Given the description of an element on the screen output the (x, y) to click on. 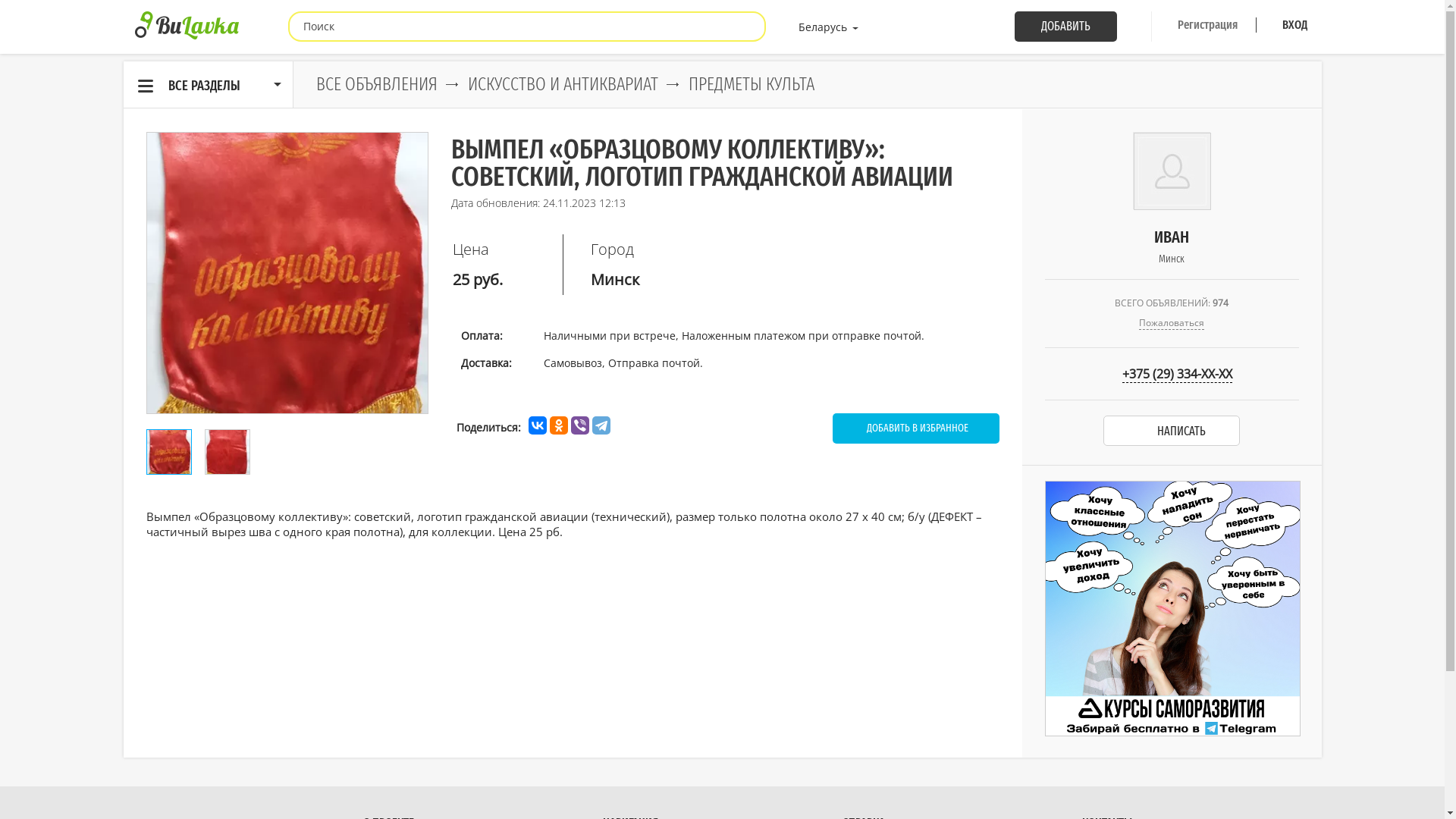
Telegram Element type: hover (600, 425)
+375 (29) 334-XX-XX Element type: text (1171, 373)
Viber Element type: hover (579, 425)
BuLavka.by Element type: text (186, 25)
